Given the description of an element on the screen output the (x, y) to click on. 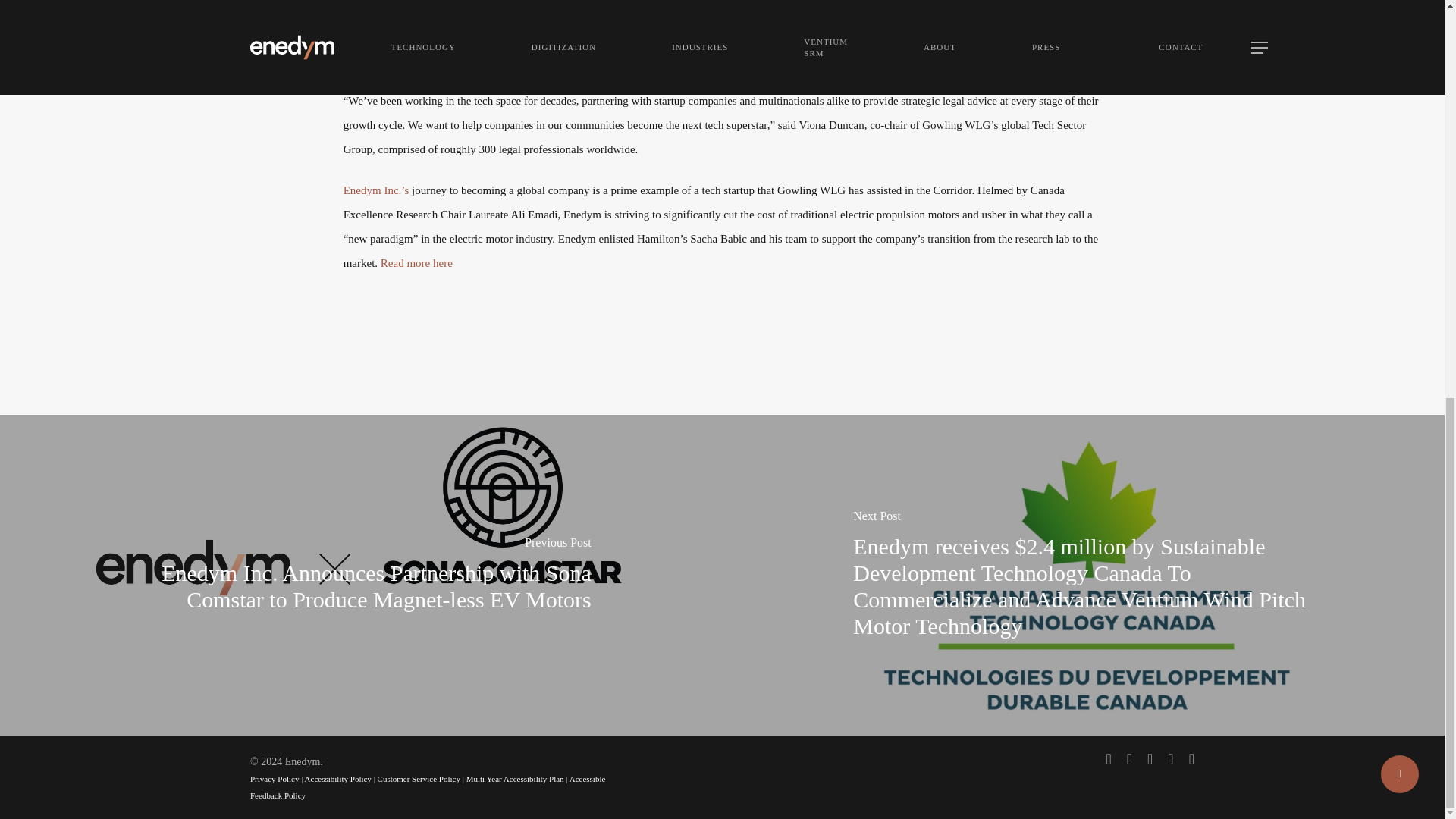
Gowling WLG (377, 34)
Customer Service Policy (418, 777)
Read more here (416, 263)
Accessible Feedback Policy (427, 786)
Privacy Policy (274, 777)
Multi Year Accessibility Plan (514, 777)
Accessibility Policy (337, 777)
